Given the description of an element on the screen output the (x, y) to click on. 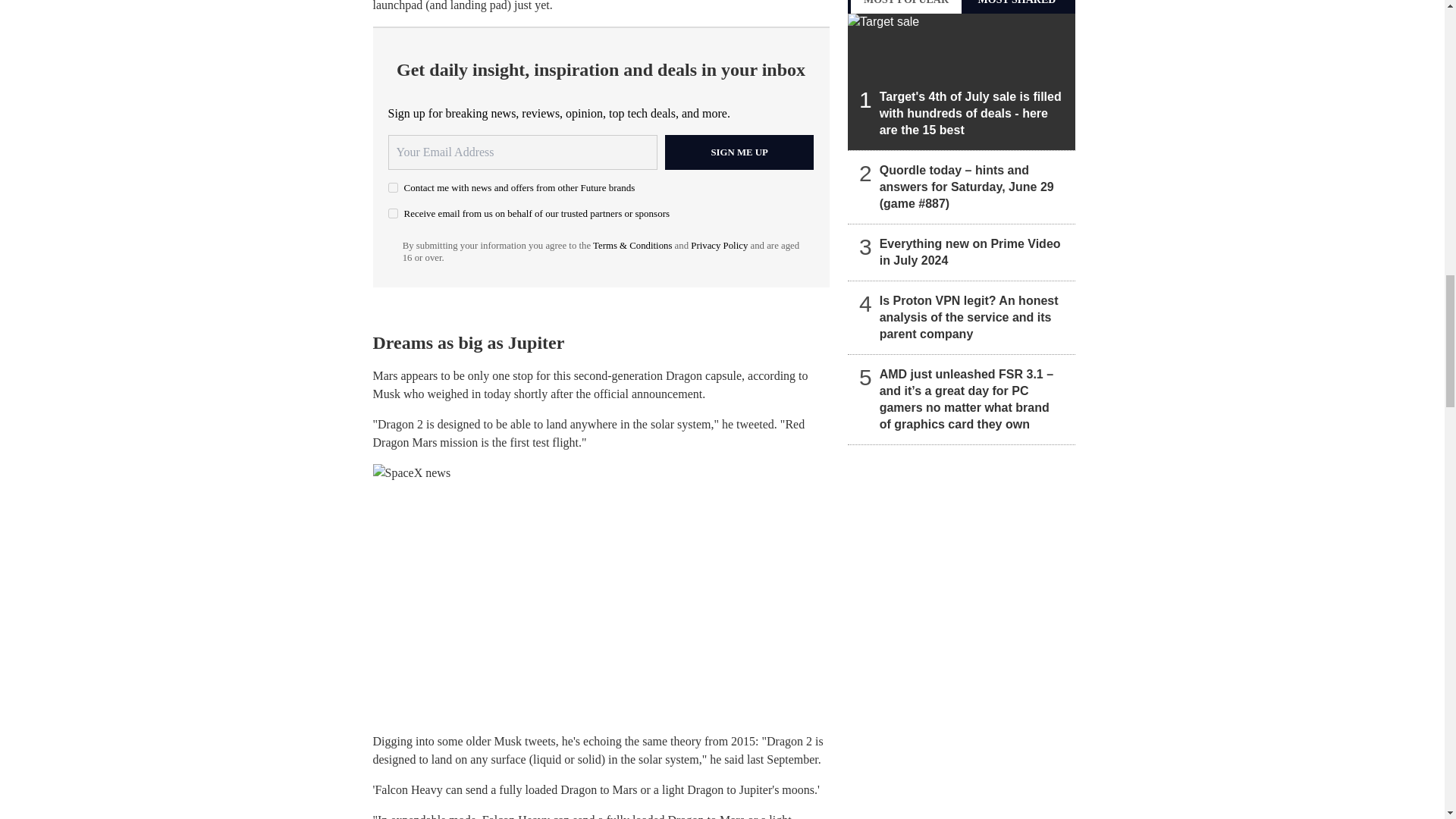
on (392, 213)
Sign me up (739, 152)
on (392, 187)
